Given the description of an element on the screen output the (x, y) to click on. 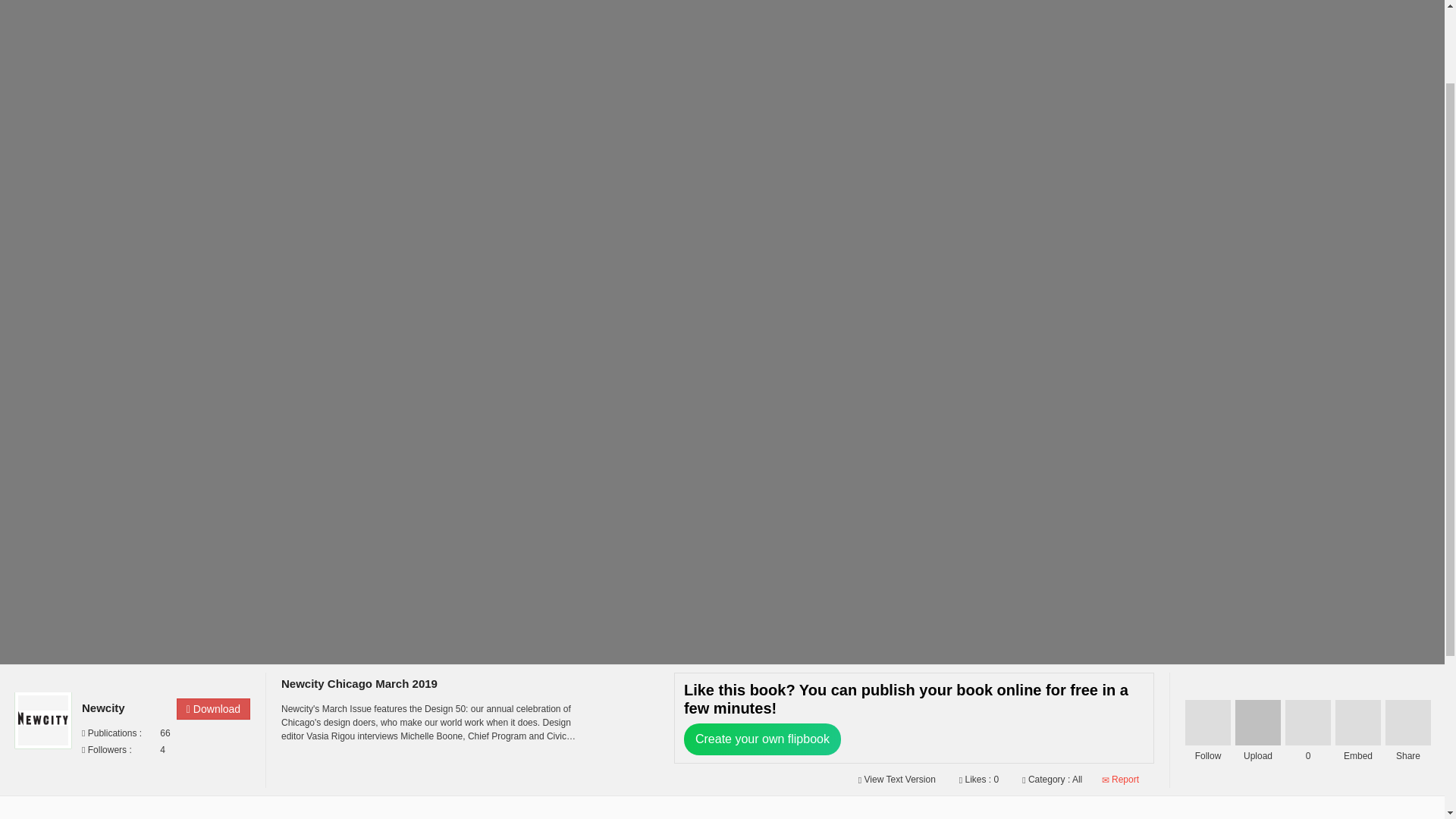
Newcity (124, 708)
Convert your own PDF file to online flipbook (1257, 722)
Add to my favorites (1307, 722)
Share this book (1408, 722)
Newcity Chicago March 2019 (359, 683)
Download this PDF file (213, 708)
Newcity (124, 708)
View text version for this publication (894, 778)
Embed this book (1357, 722)
